Given the description of an element on the screen output the (x, y) to click on. 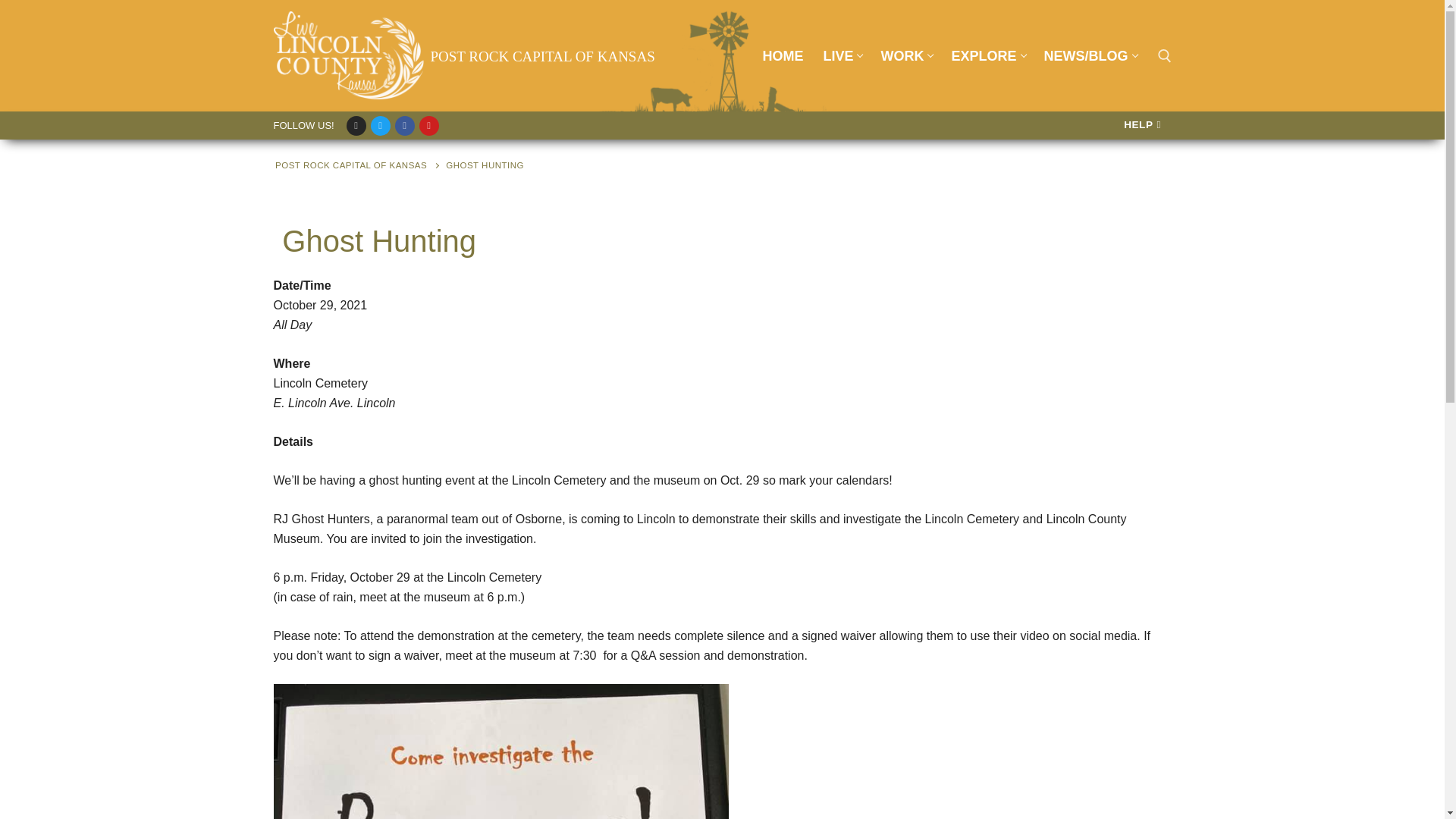
Twitter (986, 56)
Facebook (380, 125)
POST ROCK CAPITAL OF KANSAS (403, 125)
HOME (542, 56)
YouTube (841, 56)
Instagram (782, 56)
Go to Post Rock Capital of Kansas. (428, 125)
